Given the description of an element on the screen output the (x, y) to click on. 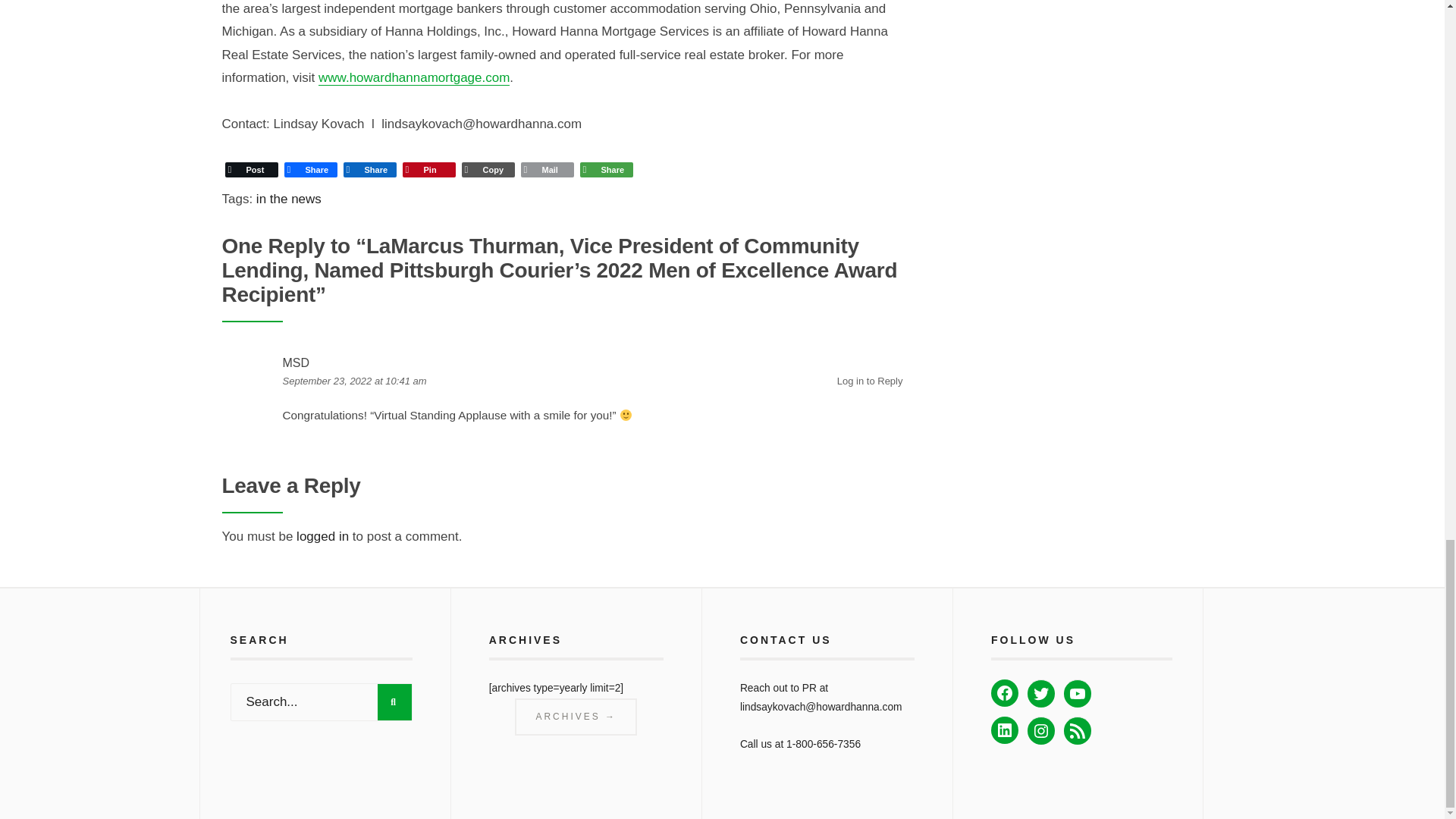
LinkedIn (368, 169)
Copy Link (487, 169)
Facebook (310, 169)
Search... (321, 702)
Pinterest (428, 169)
